Given the description of an element on the screen output the (x, y) to click on. 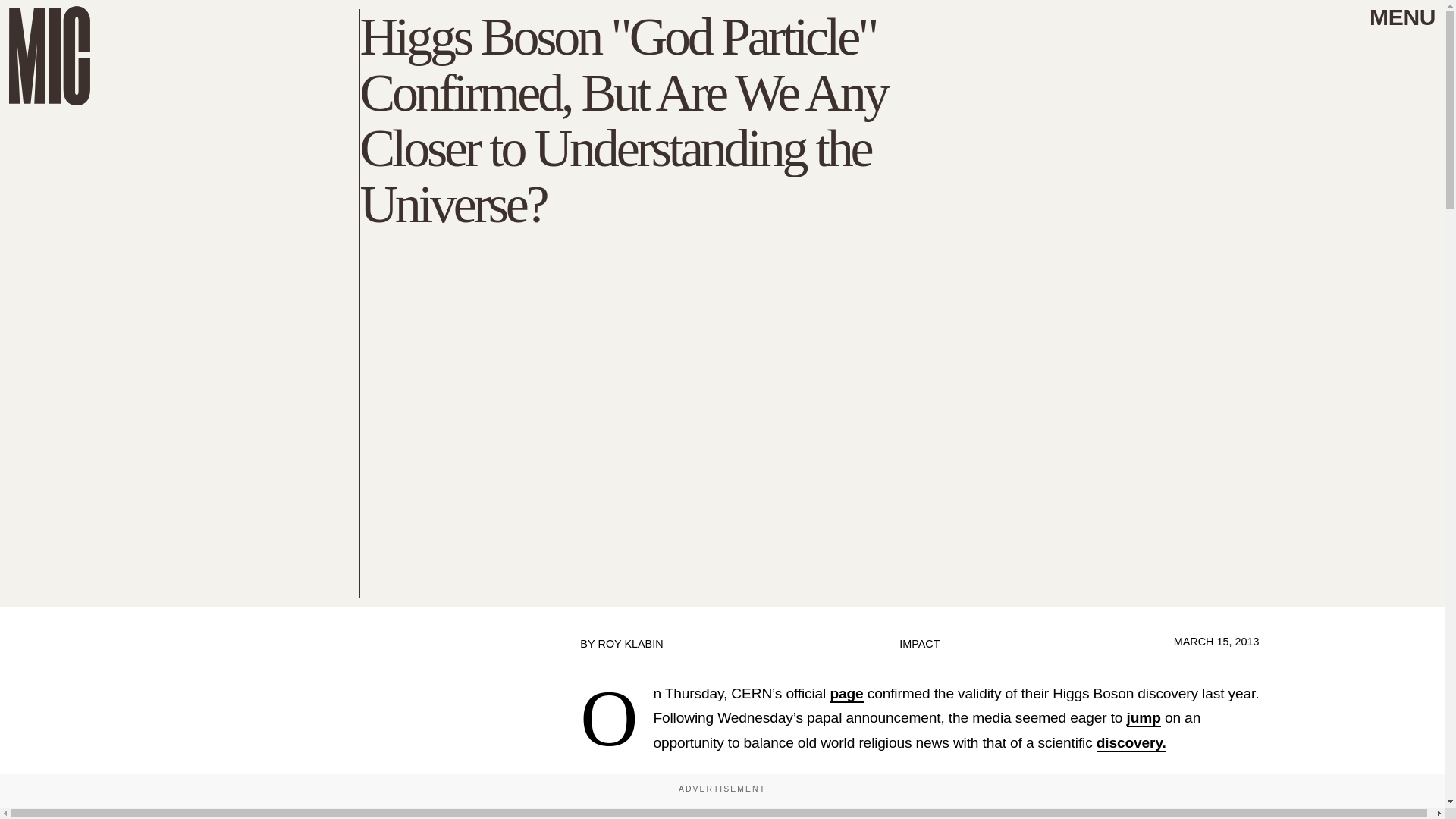
ROY KLABIN (629, 644)
page (846, 693)
discovery. (1131, 743)
jump (1143, 718)
